Given the description of an element on the screen output the (x, y) to click on. 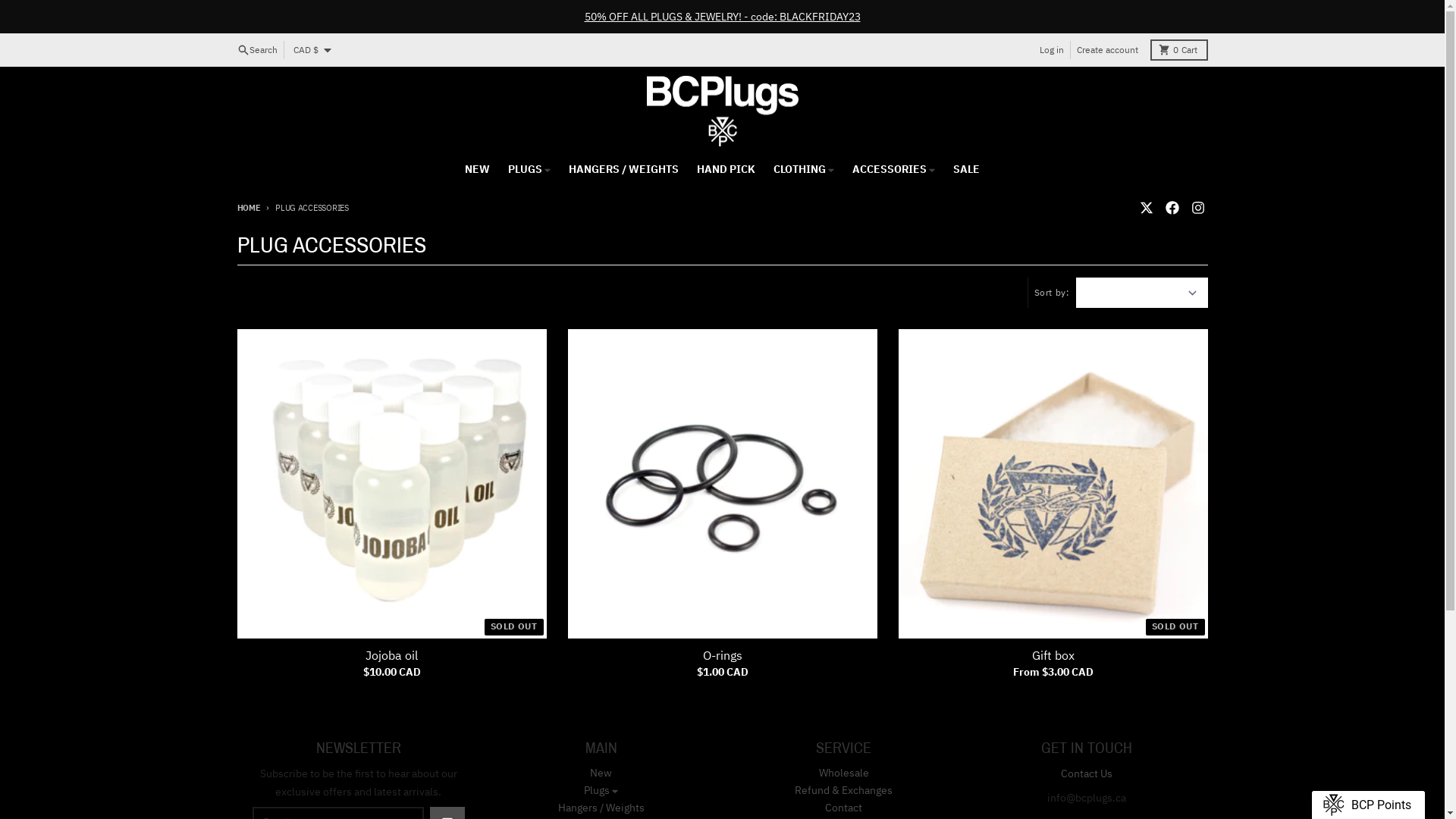
Wholesale Element type: text (844, 772)
New Element type: text (600, 772)
CAD $ Element type: text (310, 49)
NEW Element type: text (476, 168)
0
Cart Element type: text (1178, 49)
Log in Element type: text (1050, 49)
Contact Us Element type: text (1085, 773)
SOLD OUT Element type: text (391, 483)
HOME Element type: text (248, 207)
Refund & Exchanges Element type: text (843, 790)
Instagram - BC Plugs  Element type: hover (1197, 207)
Contact Element type: text (843, 807)
Search Element type: text (256, 49)
HANGERS / WEIGHTS Element type: text (623, 168)
Hangers / Weights Element type: text (601, 807)
HAND PICK Element type: text (725, 168)
50% OFF ALL PLUGS & JEWELRY! - code: BLACKFRIDAY23 Element type: text (722, 16)
Twitter - BC Plugs  Element type: hover (1145, 207)
SALE Element type: text (966, 168)
SOLD OUT Element type: text (1052, 483)
Create account Element type: text (1106, 49)
Facebook - BC Plugs  Element type: hover (1171, 207)
